Given the description of an element on the screen output the (x, y) to click on. 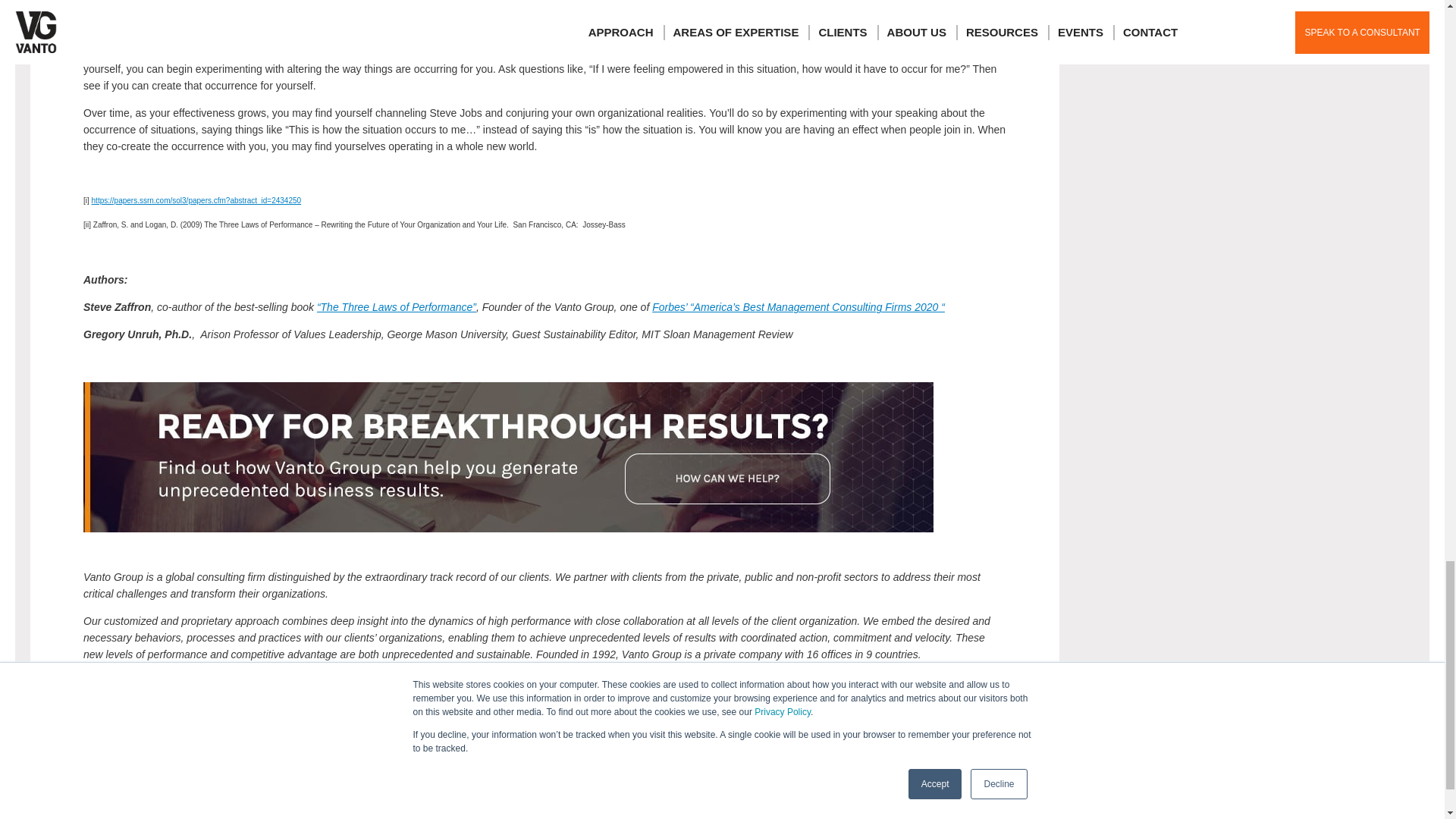
Events (202, 681)
